Given the description of an element on the screen output the (x, y) to click on. 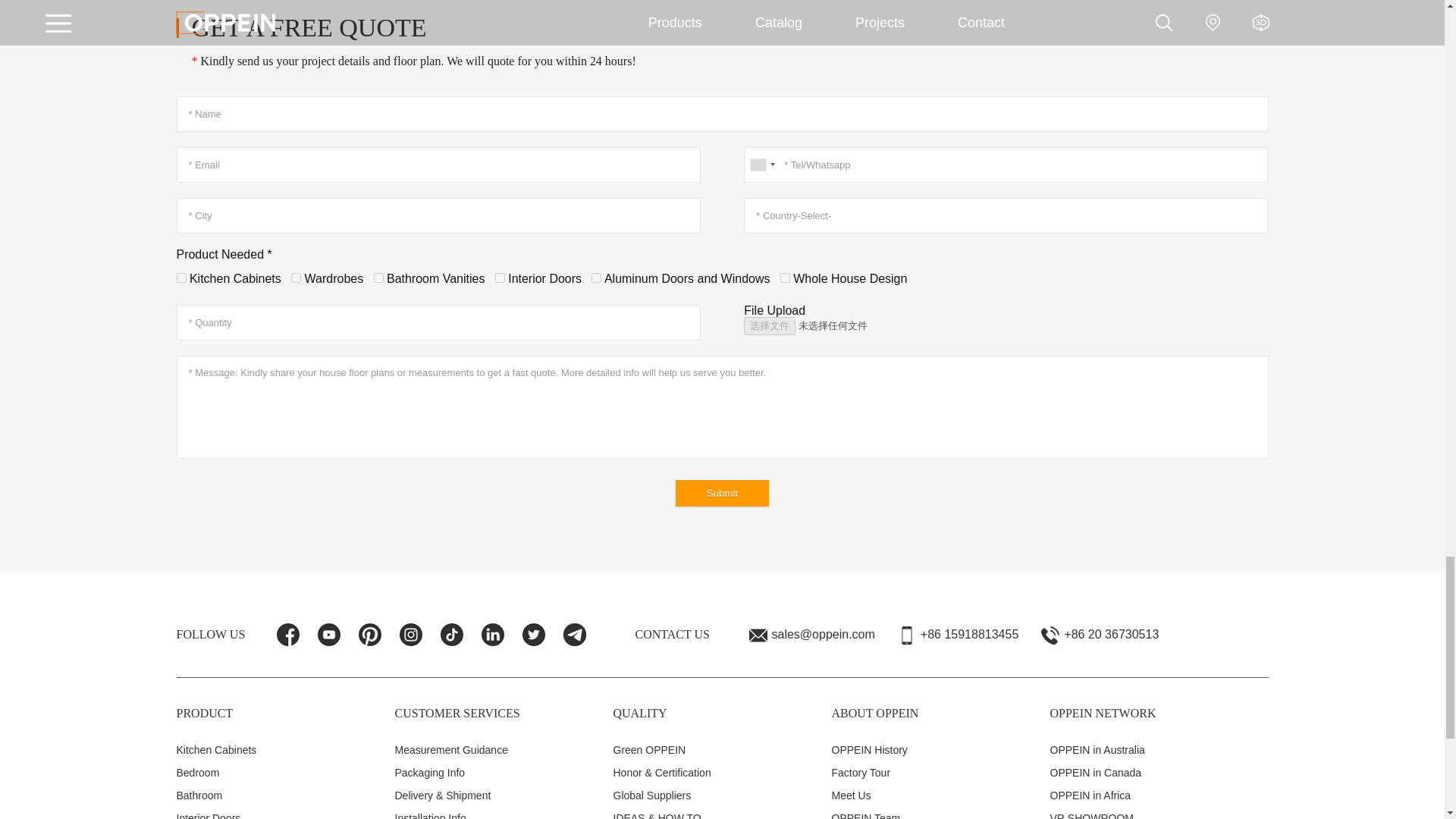
Aluminum Doors and Windows (596, 277)
Bathroom Vanities (379, 277)
Interior Doors (500, 277)
Wardrobes (296, 277)
Kitchen Cabinets (181, 277)
Whole House Design (785, 277)
